Given the description of an element on the screen output the (x, y) to click on. 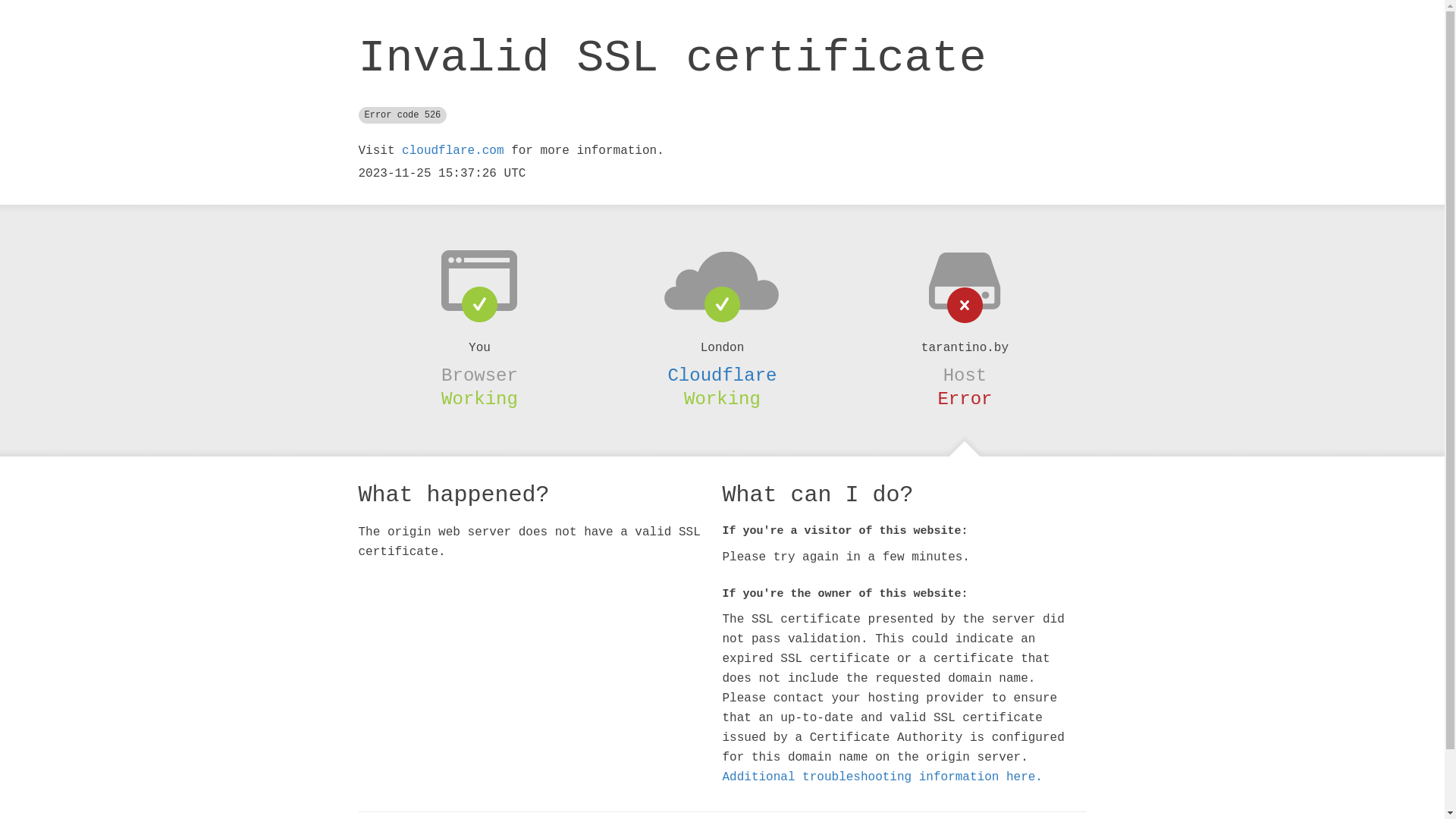
cloudflare.com Element type: text (452, 150)
Cloudflare Element type: text (721, 375)
Additional troubleshooting information here. Element type: text (881, 777)
